Given the description of an element on the screen output the (x, y) to click on. 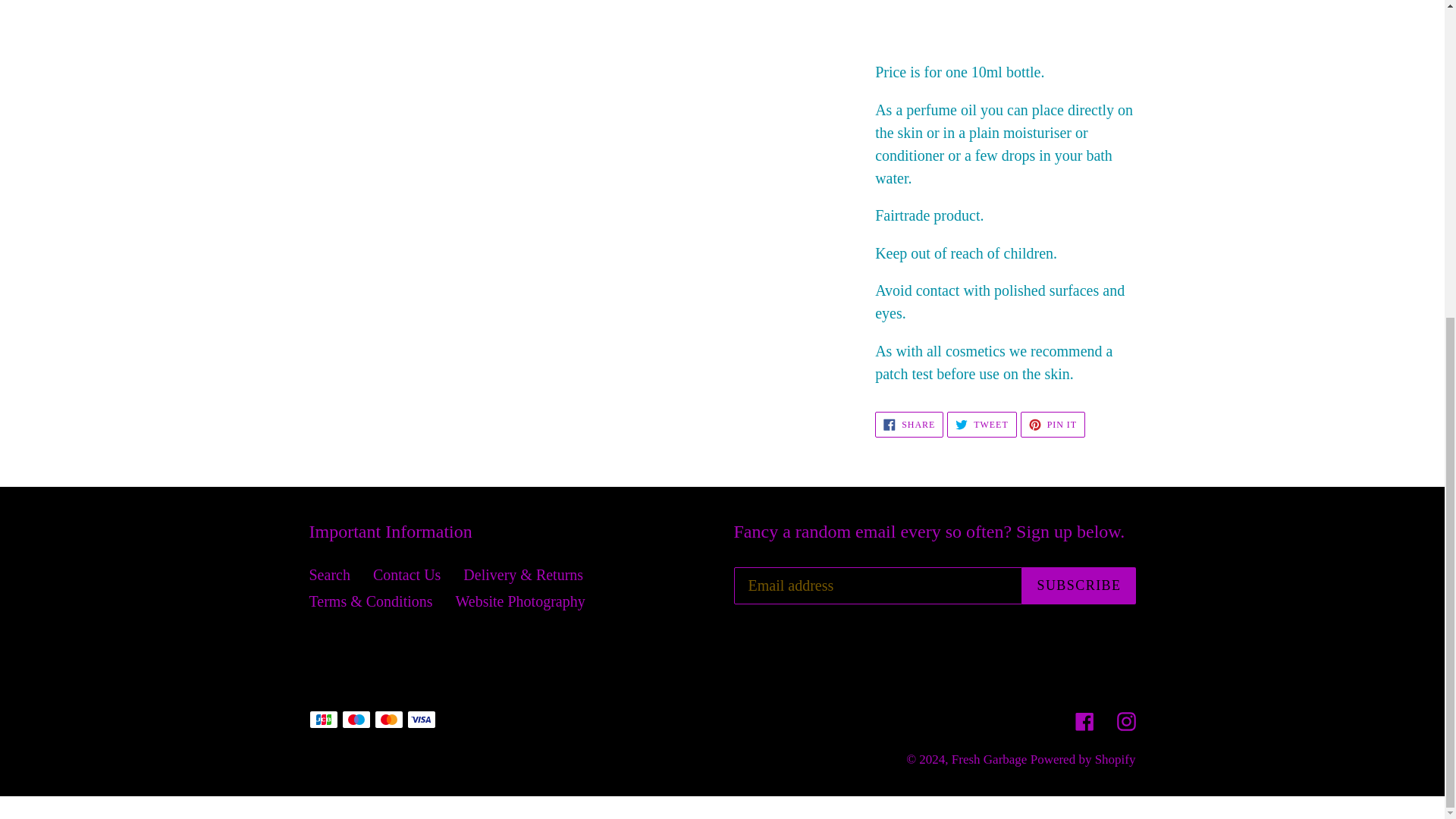
Search (1052, 424)
Contact Us (981, 424)
